Given the description of an element on the screen output the (x, y) to click on. 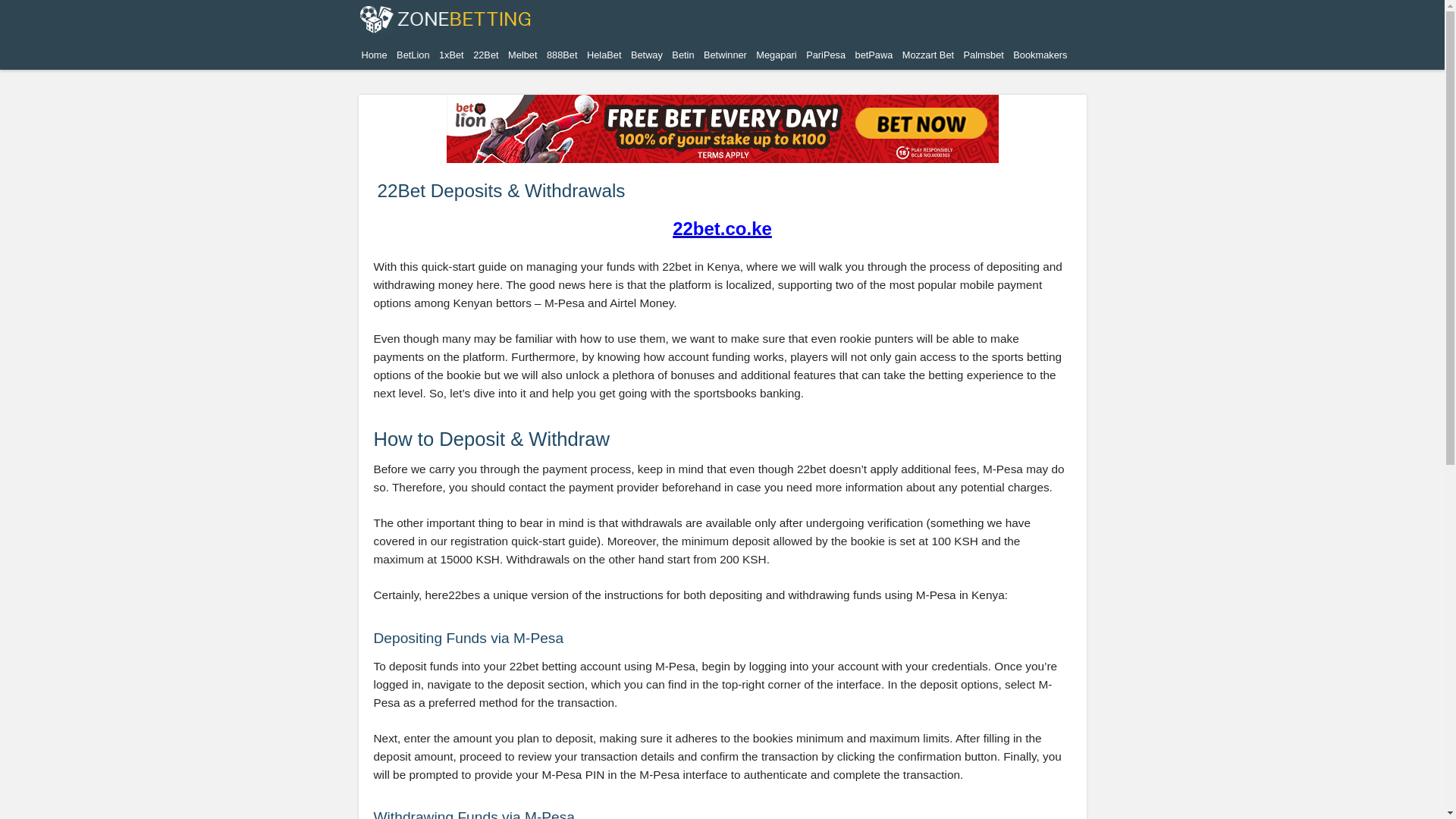
1xBet (451, 54)
Home (374, 54)
Melbet (522, 54)
888Bet (561, 54)
22Bet (485, 54)
HelaBet (603, 54)
BetLion (412, 54)
